Given the description of an element on the screen output the (x, y) to click on. 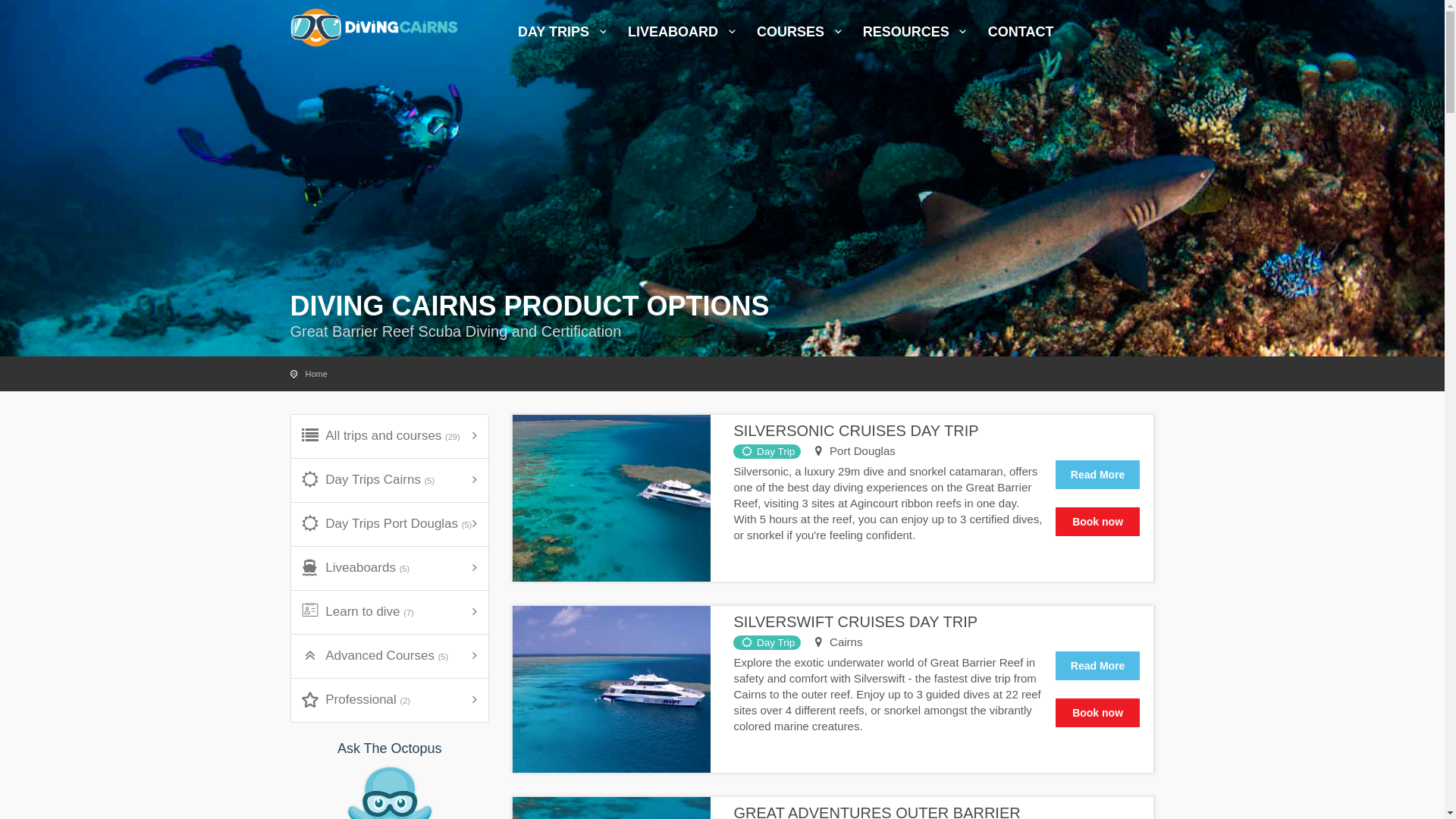
DAY TRIPS  Element type: text (564, 37)
Day Trip Element type: text (766, 451)
SILVERSONIC CRUISES DAY TRIP Element type: text (855, 430)
Read More Element type: text (1098, 474)
RESOURCES  Element type: text (917, 37)
Professional (2) Element type: text (390, 699)
CONTACT Element type: text (1021, 37)
All trips and courses (29) Element type: text (390, 436)
SILVERSWIFT CRUISES DAY TRIP Element type: text (855, 621)
Book now Element type: text (1098, 712)
Day Trip Element type: text (766, 642)
Book now Element type: text (1098, 521)
COURSES  Element type: text (801, 37)
Home Element type: text (315, 373)
Day Trips Cairns (5) Element type: text (390, 480)
Learn to dive (7) Element type: text (390, 611)
Day Trips Port Douglas (5) Element type: text (390, 524)
Advanced Courses (5) Element type: text (390, 655)
Liveaboards (5) Element type: text (390, 567)
Read More Element type: text (1098, 665)
LIVEABOARD  Element type: text (683, 37)
